Given the description of an element on the screen output the (x, y) to click on. 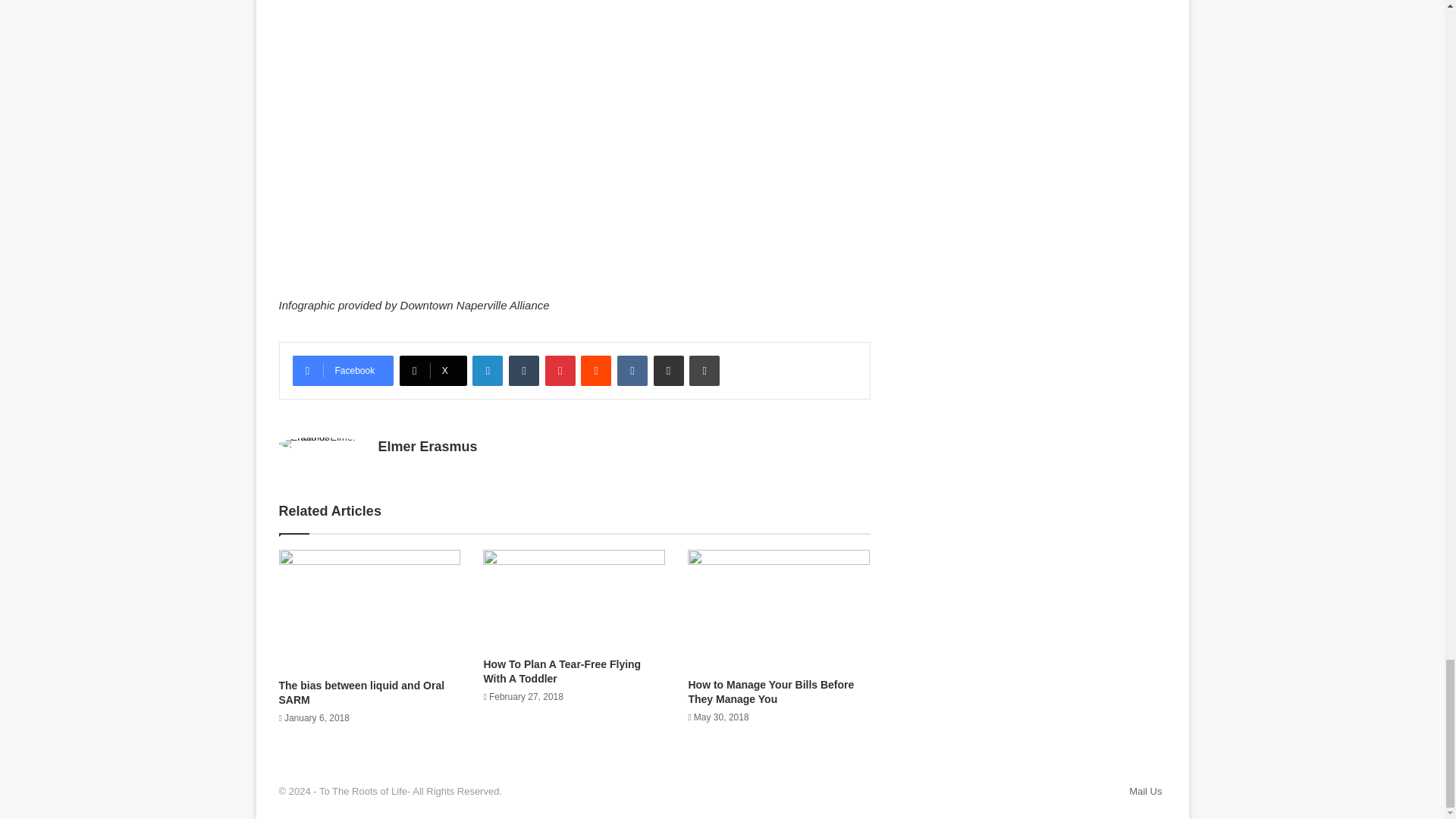
X (432, 370)
LinkedIn (486, 370)
Facebook (343, 370)
Elmer Erasmus (427, 446)
Reddit (595, 370)
Tumblr (523, 370)
X (432, 370)
VKontakte (632, 370)
Facebook (343, 370)
LinkedIn (486, 370)
